Given the description of an element on the screen output the (x, y) to click on. 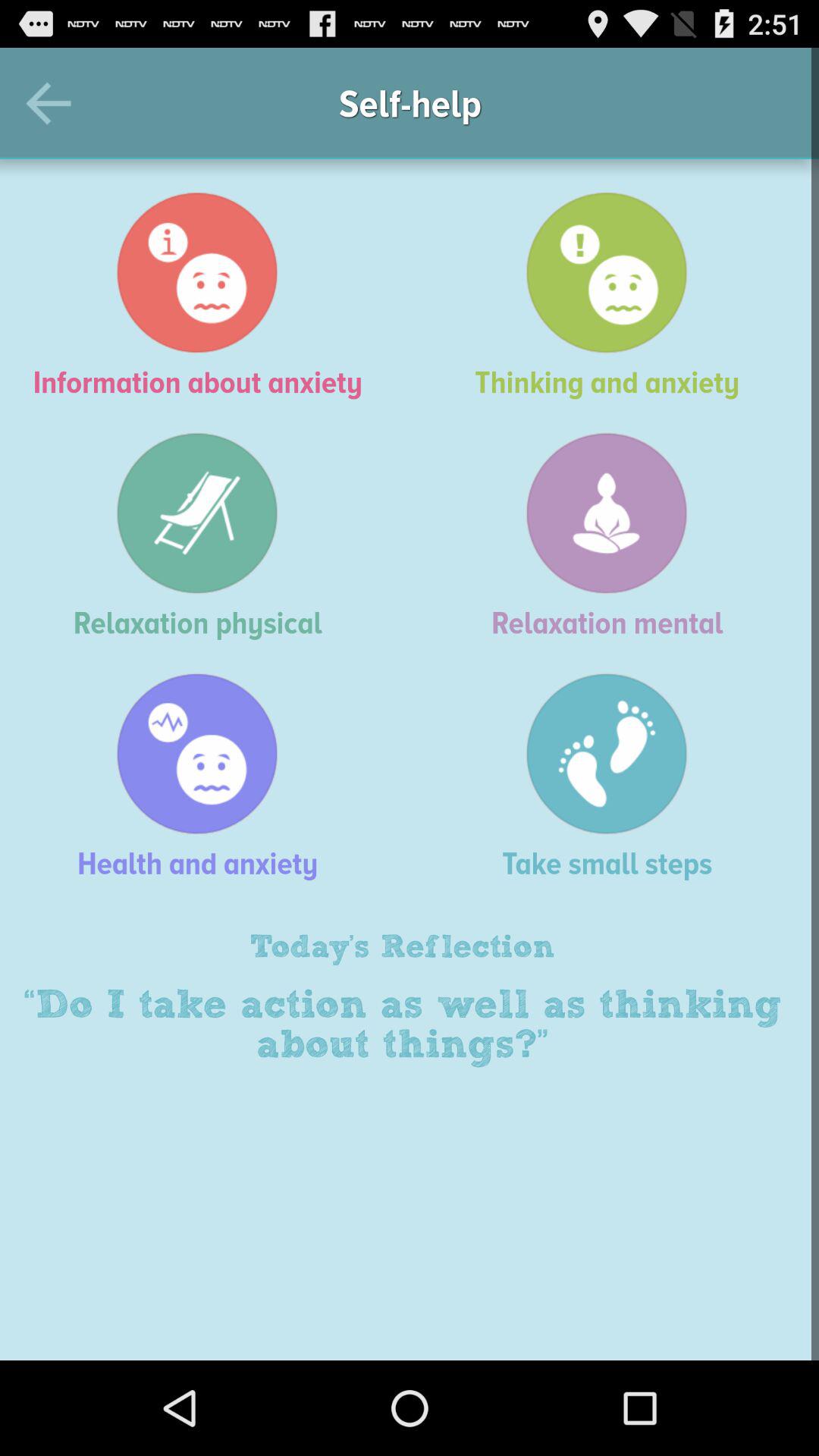
turn off the relaxation physical icon (204, 535)
